Given the description of an element on the screen output the (x, y) to click on. 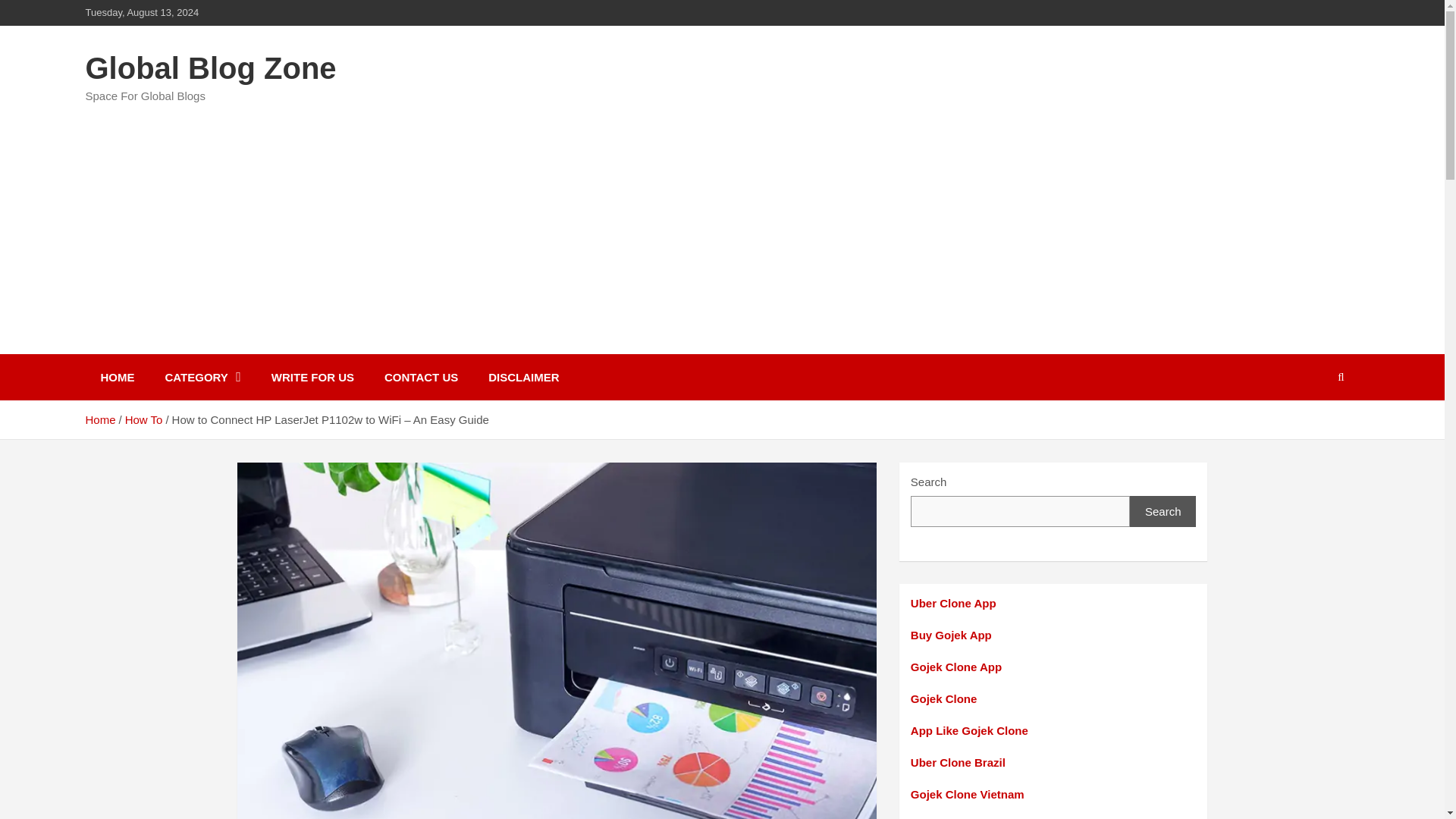
DISCLAIMER (523, 376)
CONTACT US (421, 376)
Global Blog Zone (210, 68)
Home (99, 419)
HOME (116, 376)
CATEGORY (202, 376)
How To (144, 419)
WRITE FOR US (312, 376)
